Given the description of an element on the screen output the (x, y) to click on. 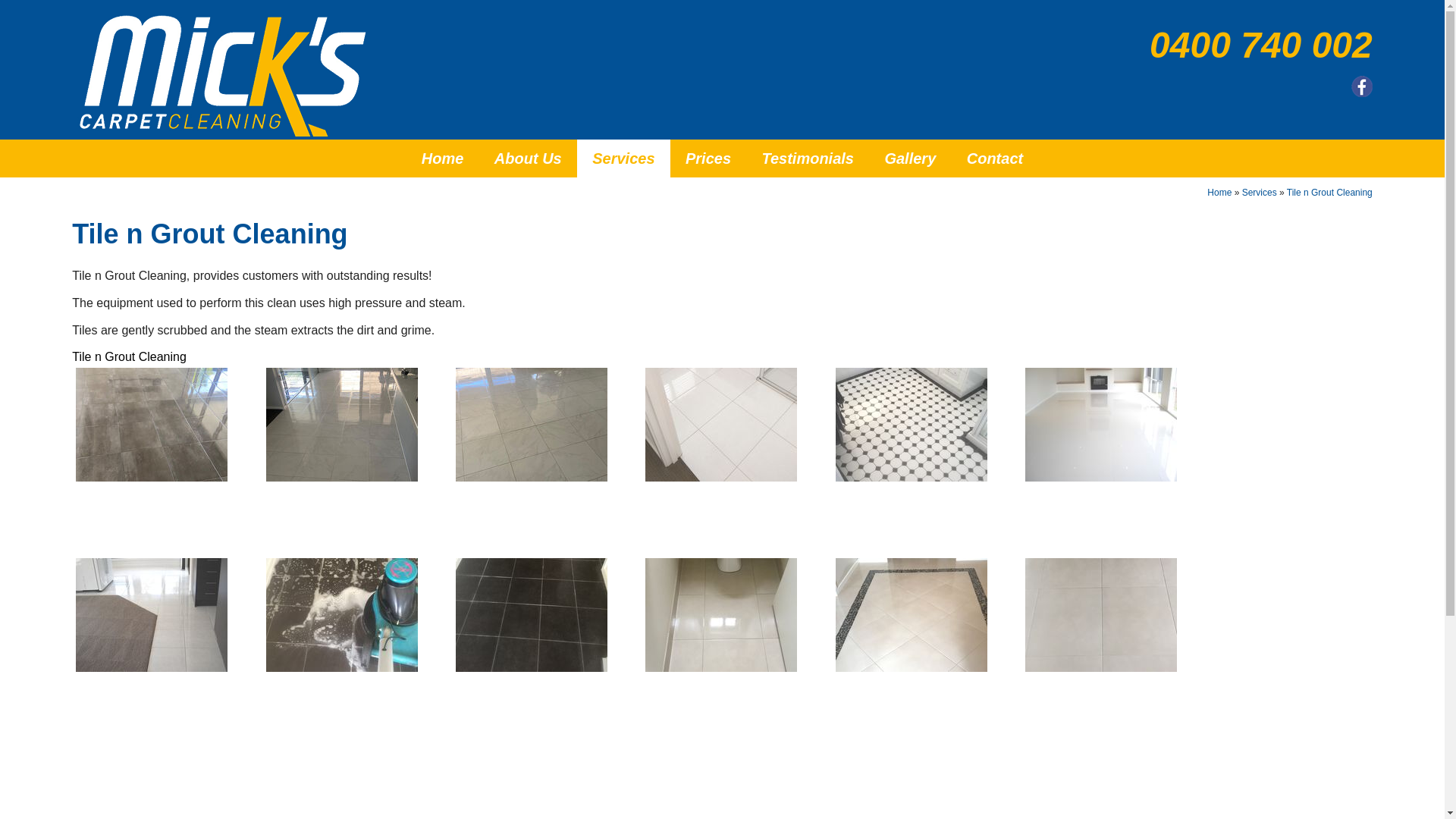
Follow us on Facebook Element type: hover (1361, 86)
Tile n Grout Cleaning - Micks Carpet Cleaning Ballarat Element type: hover (151, 614)
Tile n Grout Cleaning - Micks Carpet Cleaning Ballarat Element type: hover (1100, 424)
Services Element type: text (1259, 192)
Prices Element type: text (708, 158)
Contact Micks Carpet Cleaning Element type: text (722, 765)
Tile n Grout Cleaning - Micks Carpet Cleaning Ballarat Element type: hover (721, 614)
Tile n Grout Cleaning - Micks Carpet Cleaning Ballarat Element type: hover (911, 424)
Tile n Grout Cleaning - Micks Carpet Cleaning Ballarat Element type: hover (531, 424)
Tile n Grout Cleaning - Micks Carpet Cleaning Ballarat Element type: hover (341, 424)
Tile n Grout Cleaning Element type: text (1329, 192)
Gallery Element type: text (909, 158)
Contact Element type: text (994, 158)
Home Element type: text (442, 158)
0400 740 002 Element type: text (1112, 45)
Tile n Grout Cleaning - Micks Carpet Cleaning Ballarat Element type: hover (531, 614)
Tile n Grout Cleaning - Micks Carpet Cleaning Ballarat Element type: hover (341, 614)
Tile n Grout Cleaning - Micks Carpet Cleaning Ballarat Element type: hover (911, 614)
About Us Element type: text (528, 158)
Tile n Grout Cleaning - Micks Carpet Cleaning Ballarat Element type: hover (721, 424)
Services Element type: text (623, 158)
Tile n Grout Cleaning - Micks Carpet Cleaning Ballarat Element type: hover (1100, 614)
Home Element type: text (1219, 192)
Tile n Grout Cleaning - Micks Carpet Cleaning Ballarat Element type: hover (151, 424)
Micks Carpet Cleaning Element type: hover (222, 75)
Testimonials Element type: text (807, 158)
